Given the description of an element on the screen output the (x, y) to click on. 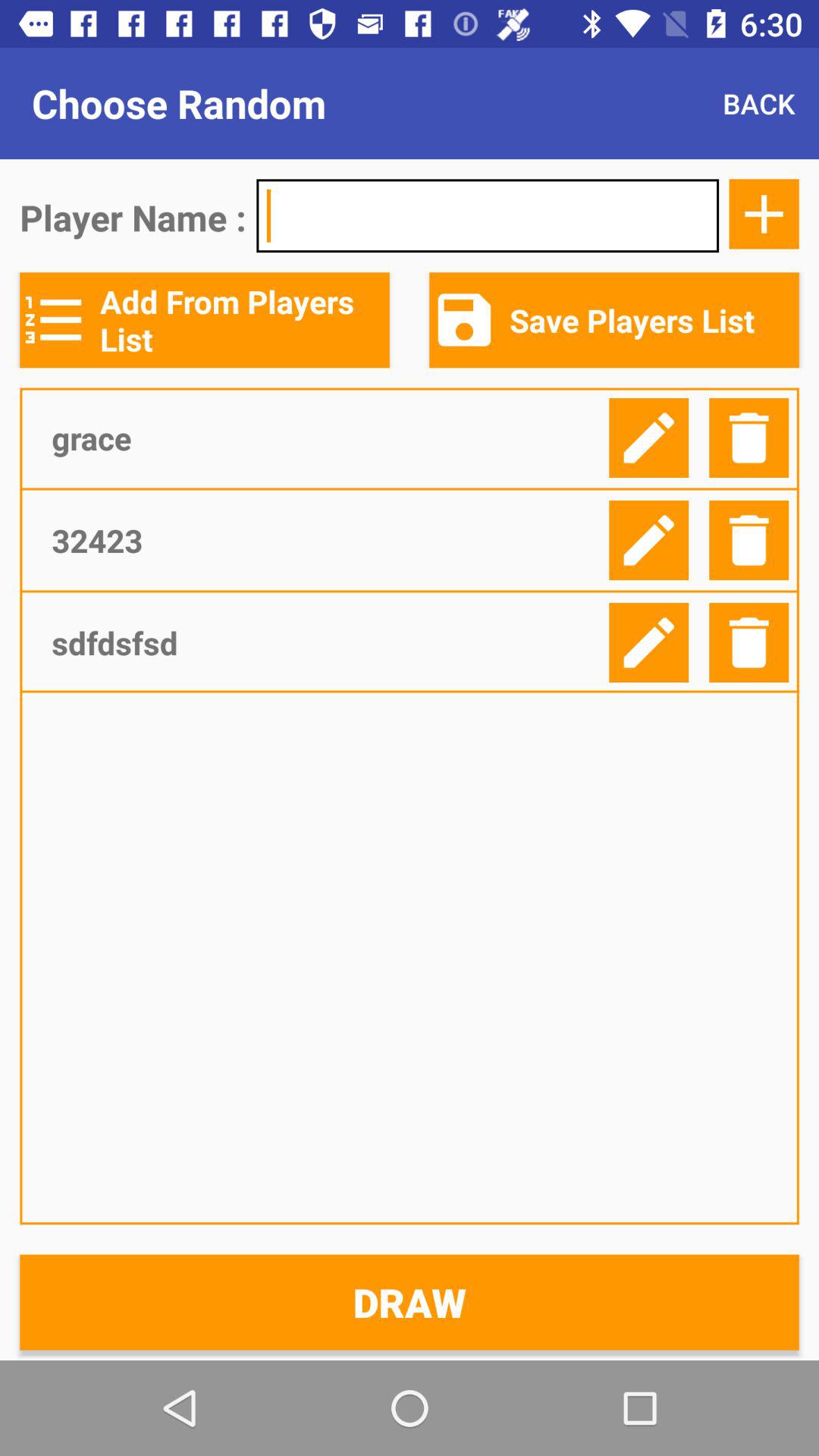
delete button (748, 540)
